Given the description of an element on the screen output the (x, y) to click on. 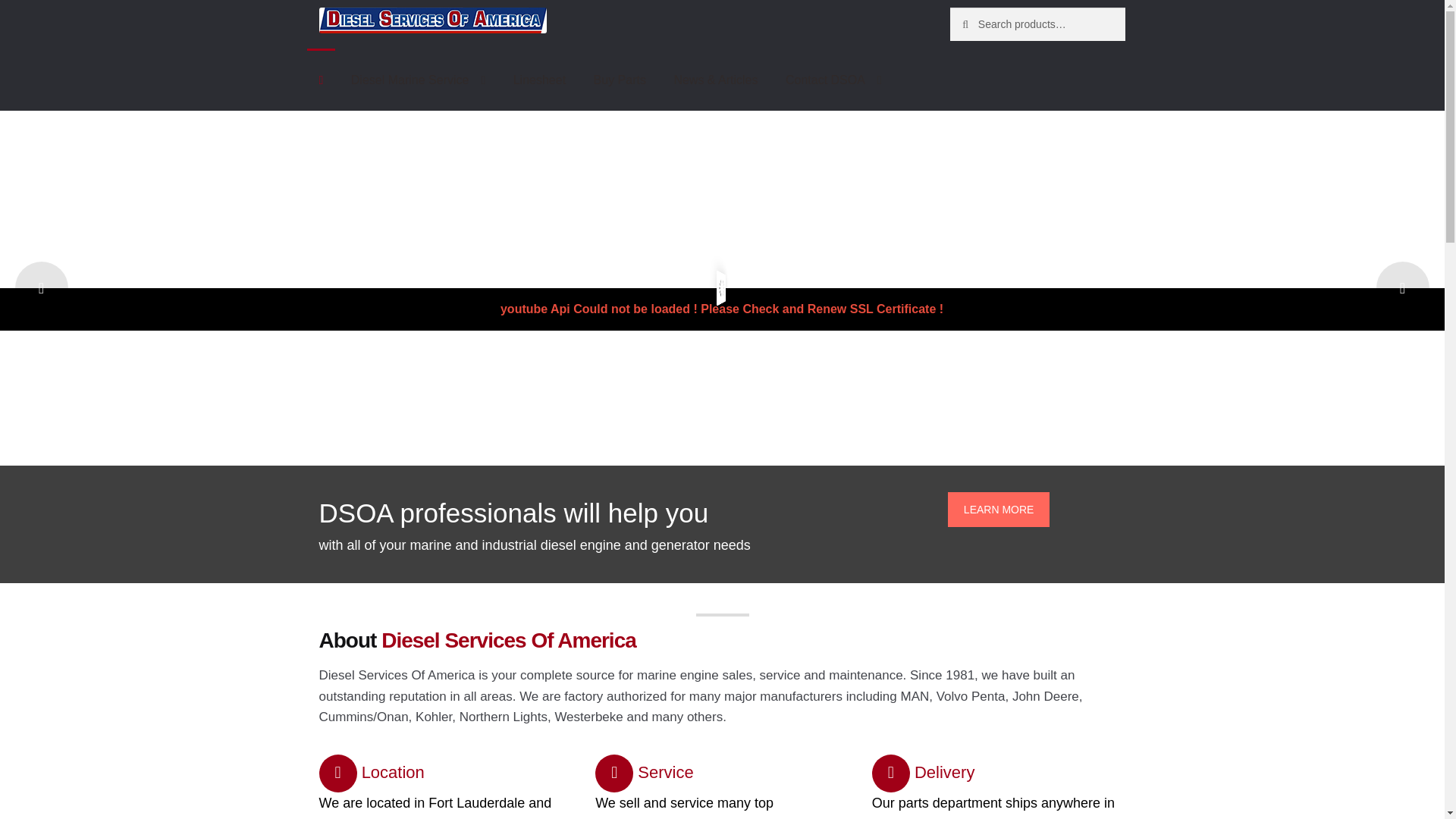
Search (982, 22)
LEARN MORE (998, 509)
Contact DSOA (833, 79)
Linesheet (539, 79)
Buy Parts (619, 79)
LEARN MORE (998, 509)
Diesel Marine Service (418, 79)
